Given the description of an element on the screen output the (x, y) to click on. 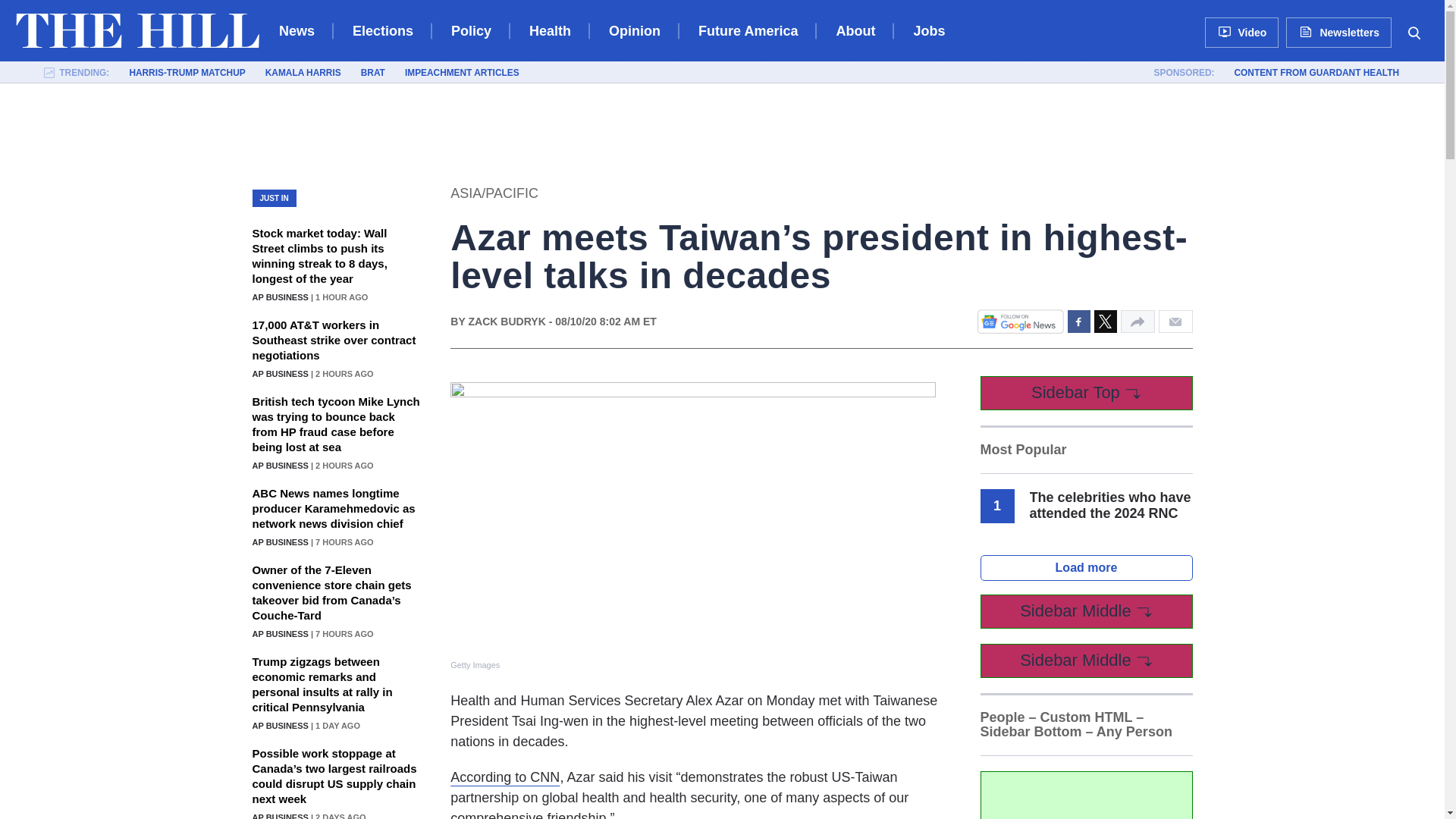
News (296, 30)
Elections (382, 30)
Opinion (634, 30)
Search (1414, 31)
Policy (471, 30)
Health (549, 30)
